Given the description of an element on the screen output the (x, y) to click on. 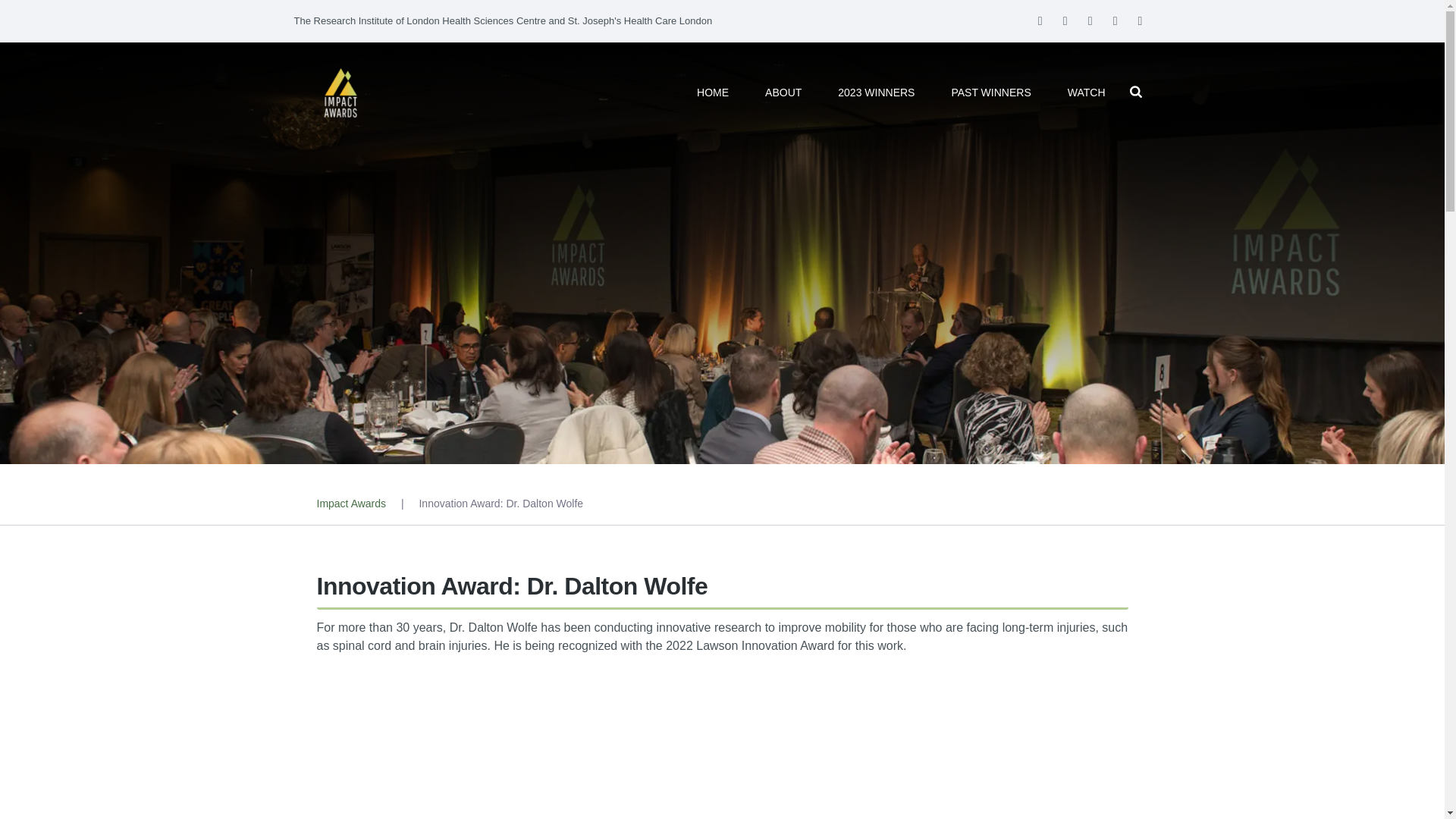
2023 WINNERS (875, 92)
Impact Awards Logo (340, 92)
HOME (712, 92)
Skip to main content (8, 9)
About the Lawson Impact Awards (782, 92)
Winners of the 2023 Lawson Impact Awards (875, 92)
View the past winners of the Lawson Impact Awards (990, 92)
ABOUT (782, 92)
